Given the description of an element on the screen output the (x, y) to click on. 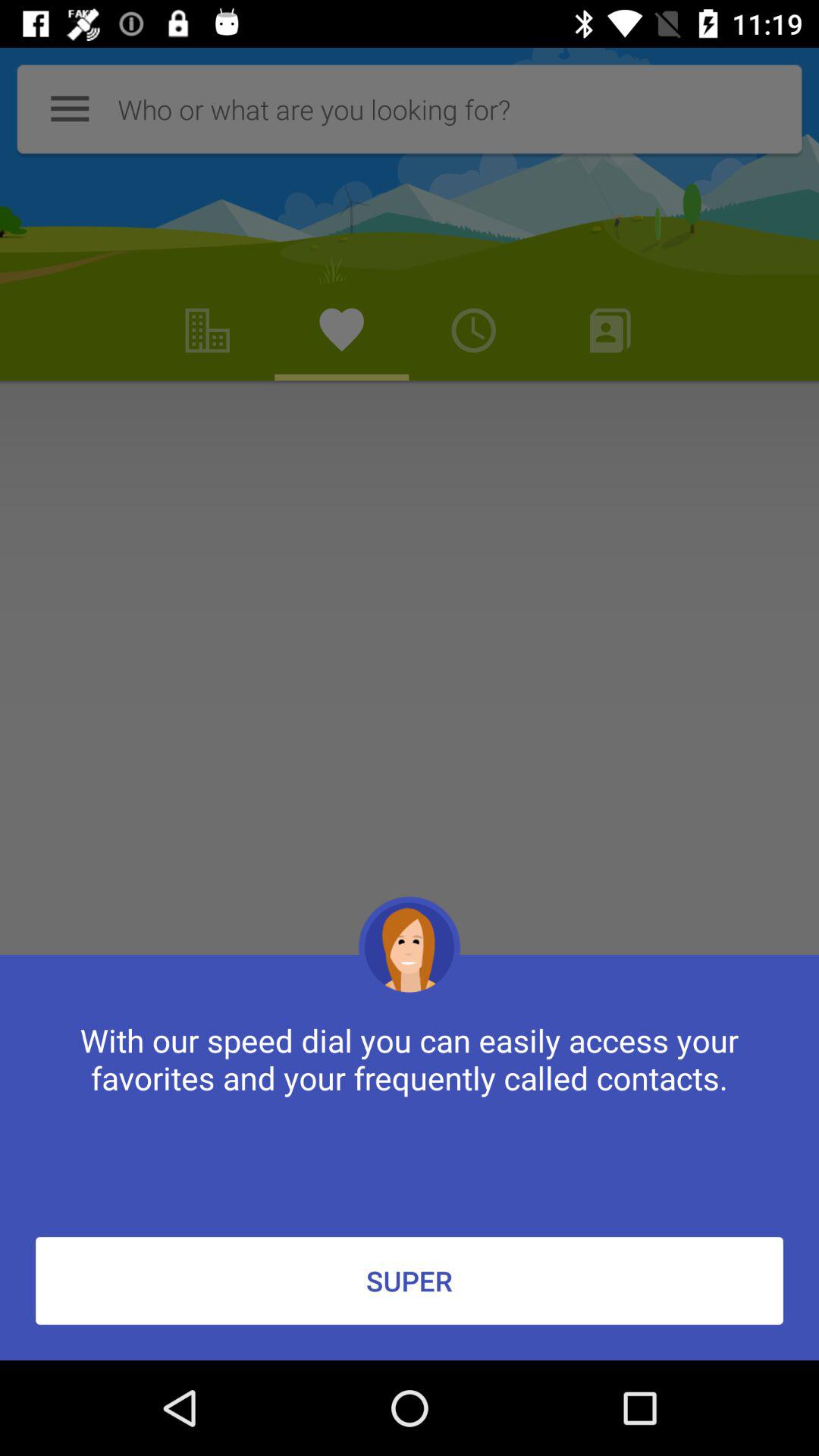
click on second option left to timer icon (207, 330)
select the right most contacts option available (610, 330)
select the heart symbol (341, 330)
option right to heart shaped option (473, 330)
